Given the description of an element on the screen output the (x, y) to click on. 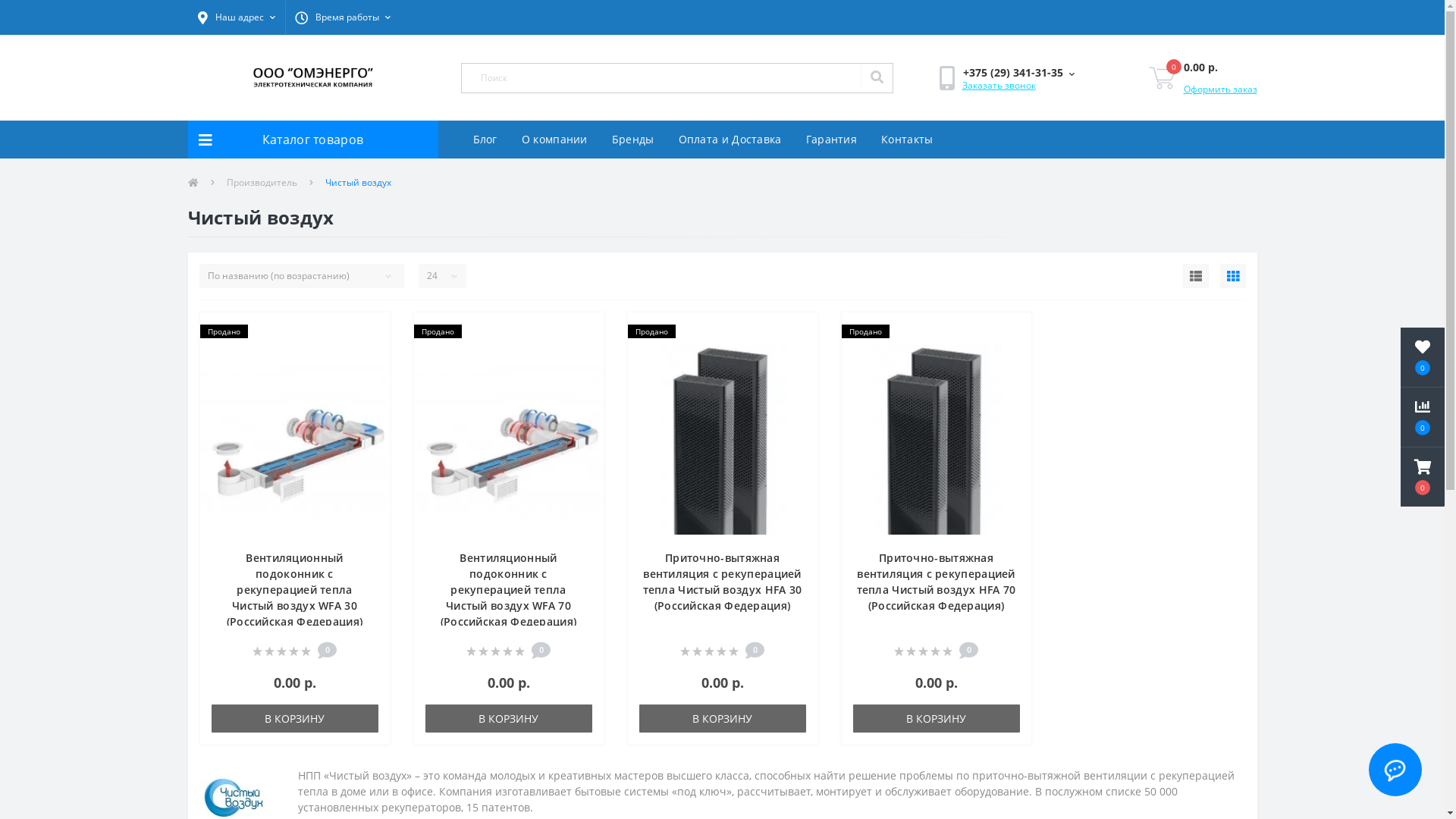
Omenergo.by Element type: hover (312, 77)
0 Element type: text (1422, 356)
0 Element type: text (1161, 77)
+375 (29) 341-31-35 Element type: text (1017, 72)
0 Element type: text (1422, 416)
0 Element type: text (1422, 476)
